Given the description of an element on the screen output the (x, y) to click on. 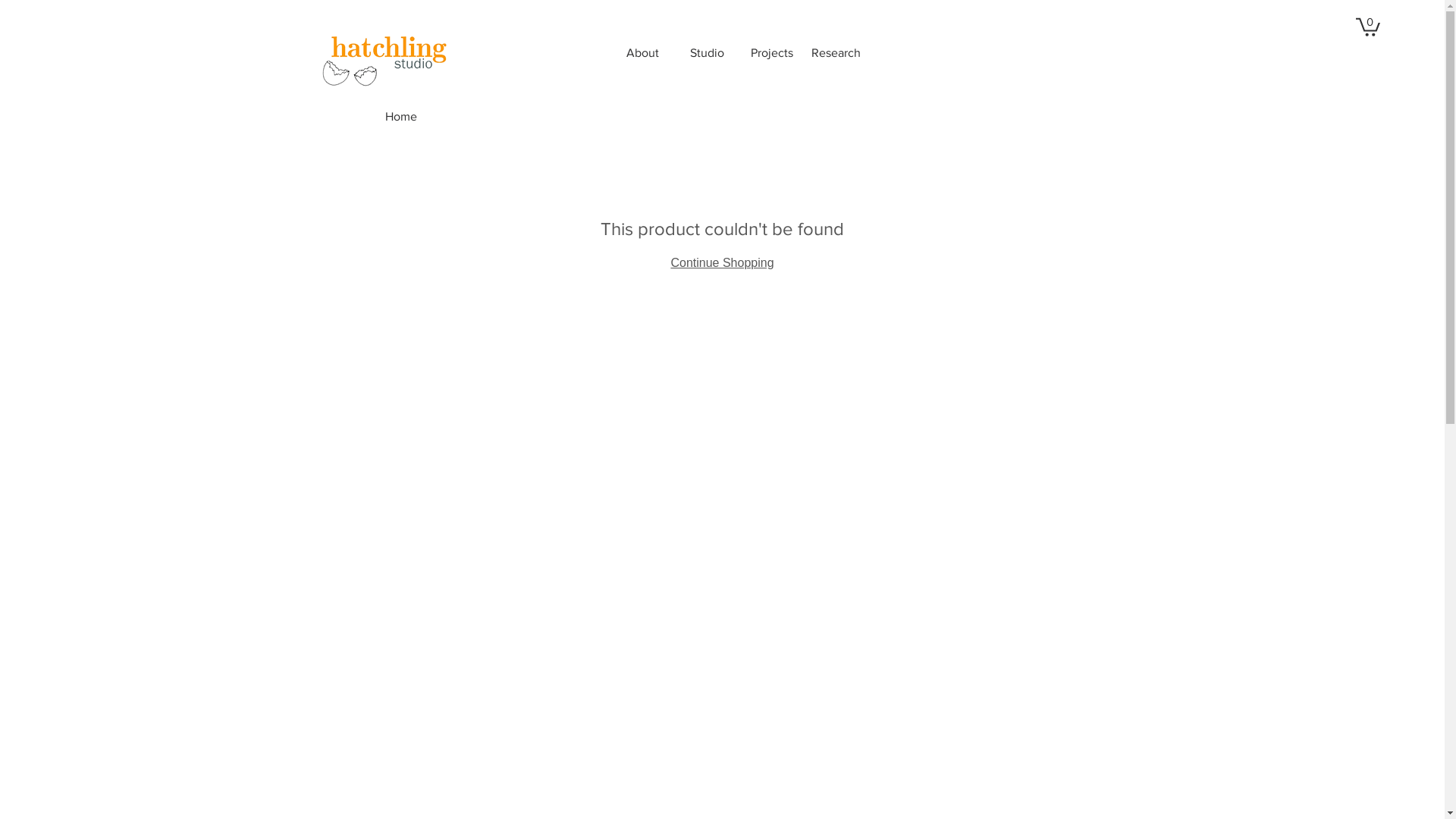
Studio Element type: text (706, 53)
Home Element type: text (401, 115)
Research Element type: text (835, 53)
0 Element type: text (1367, 25)
Continue Shopping Element type: text (721, 262)
About Element type: text (642, 53)
Projects Element type: text (771, 53)
